Given the description of an element on the screen output the (x, y) to click on. 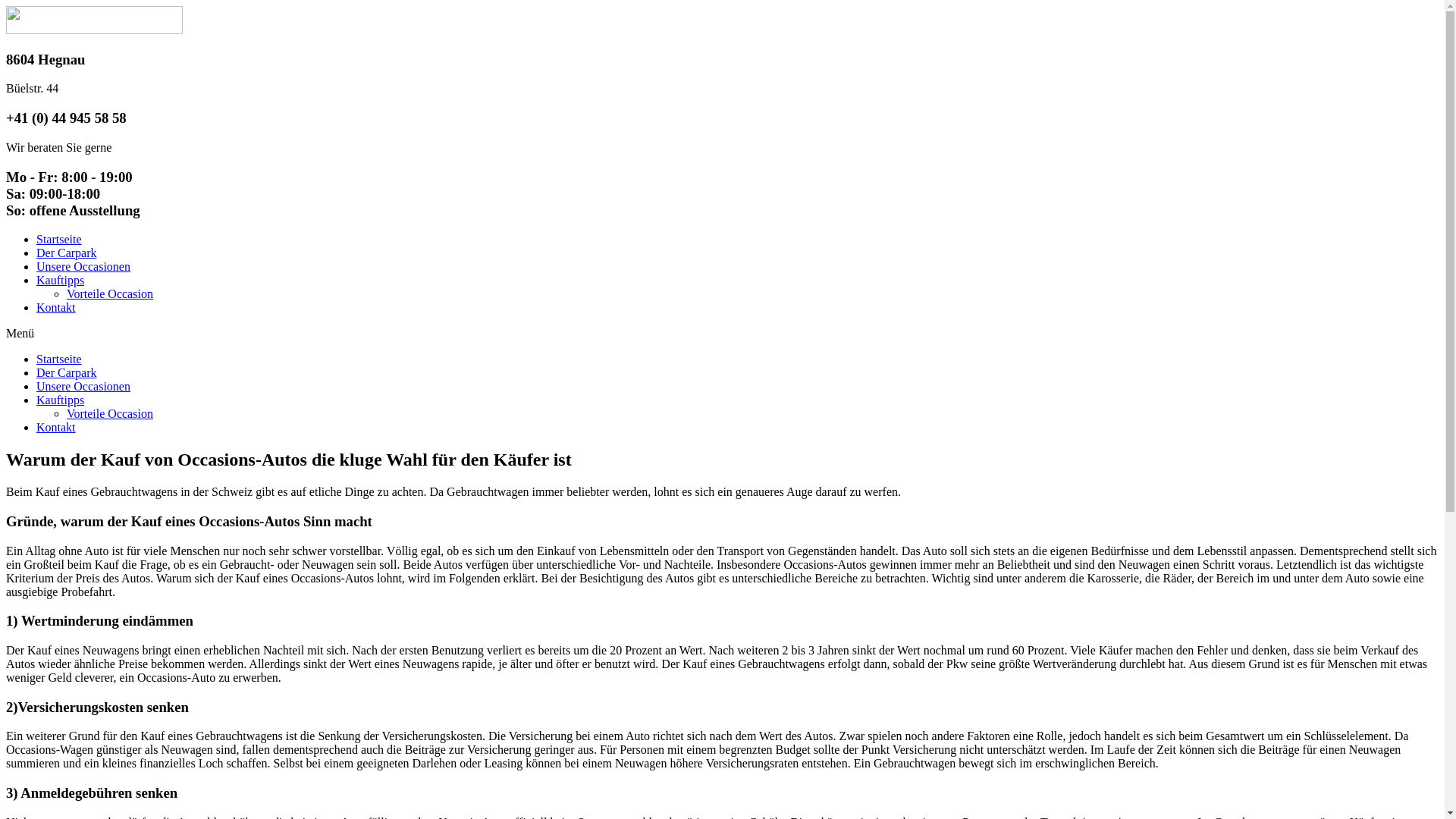
Unsere Occasionen Element type: text (83, 266)
Kontakt Element type: text (55, 426)
Der Carpark Element type: text (66, 252)
Unsere Occasionen Element type: text (83, 385)
Vorteile Occasion Element type: text (109, 413)
Kauftipps Element type: text (60, 279)
Kauftipps Element type: text (60, 399)
Vorteile Occasion Element type: text (109, 293)
Startseite Element type: text (58, 238)
Kontakt Element type: text (55, 307)
Der Carpark Element type: text (66, 372)
Startseite Element type: text (58, 358)
